Given the description of an element on the screen output the (x, y) to click on. 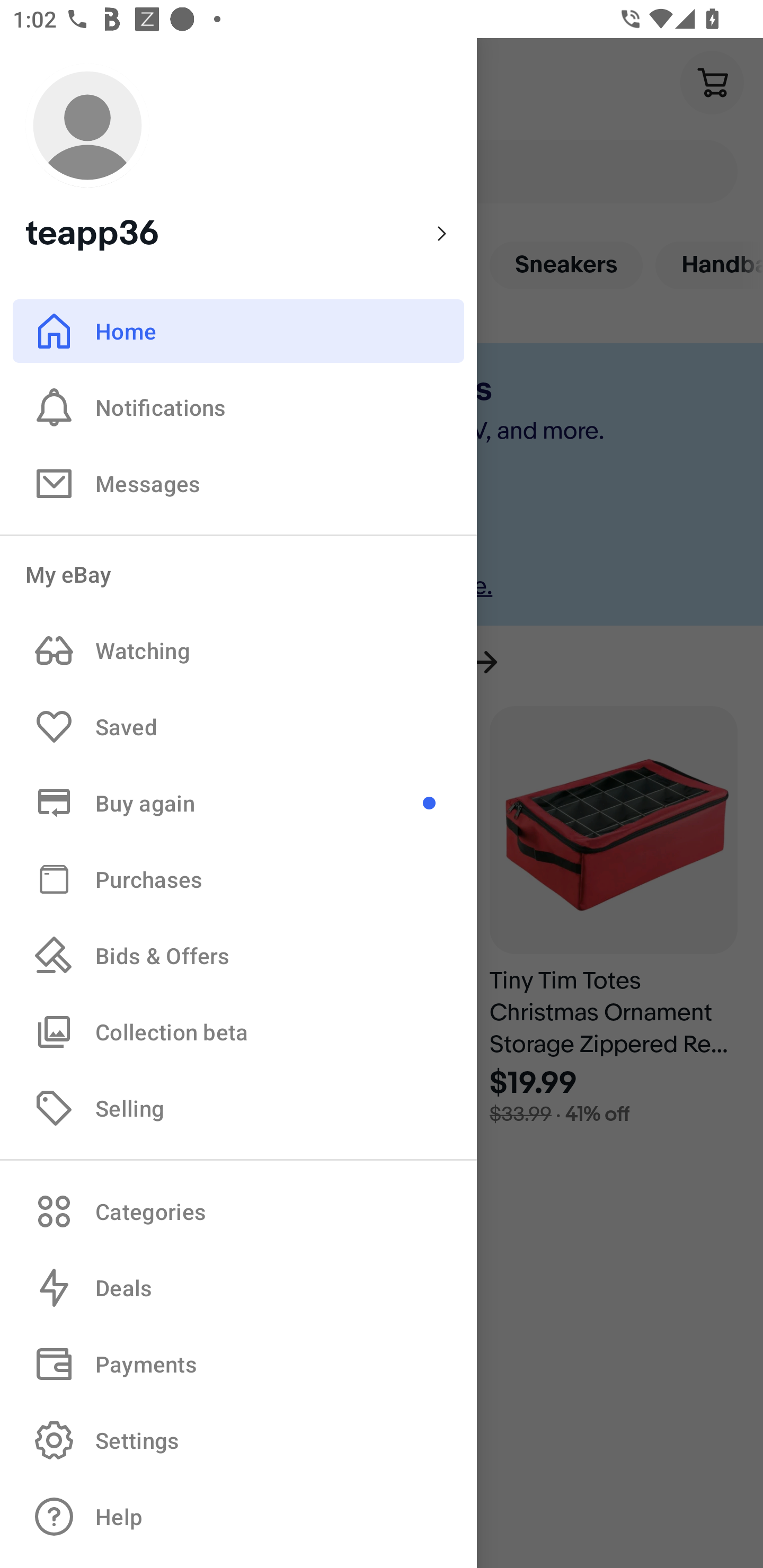
teapp36 (238, 158)
Home (238, 330)
Notifications (238, 406)
Messages (238, 483)
Watching (238, 650)
Saved (238, 726)
Buy again Is new feature (238, 802)
Purchases (238, 878)
Bids & Offers (238, 955)
Collection beta (238, 1031)
Selling (238, 1107)
Categories (238, 1210)
Deals (238, 1287)
Payments (238, 1363)
Settings (238, 1439)
Help (238, 1516)
